Given the description of an element on the screen output the (x, y) to click on. 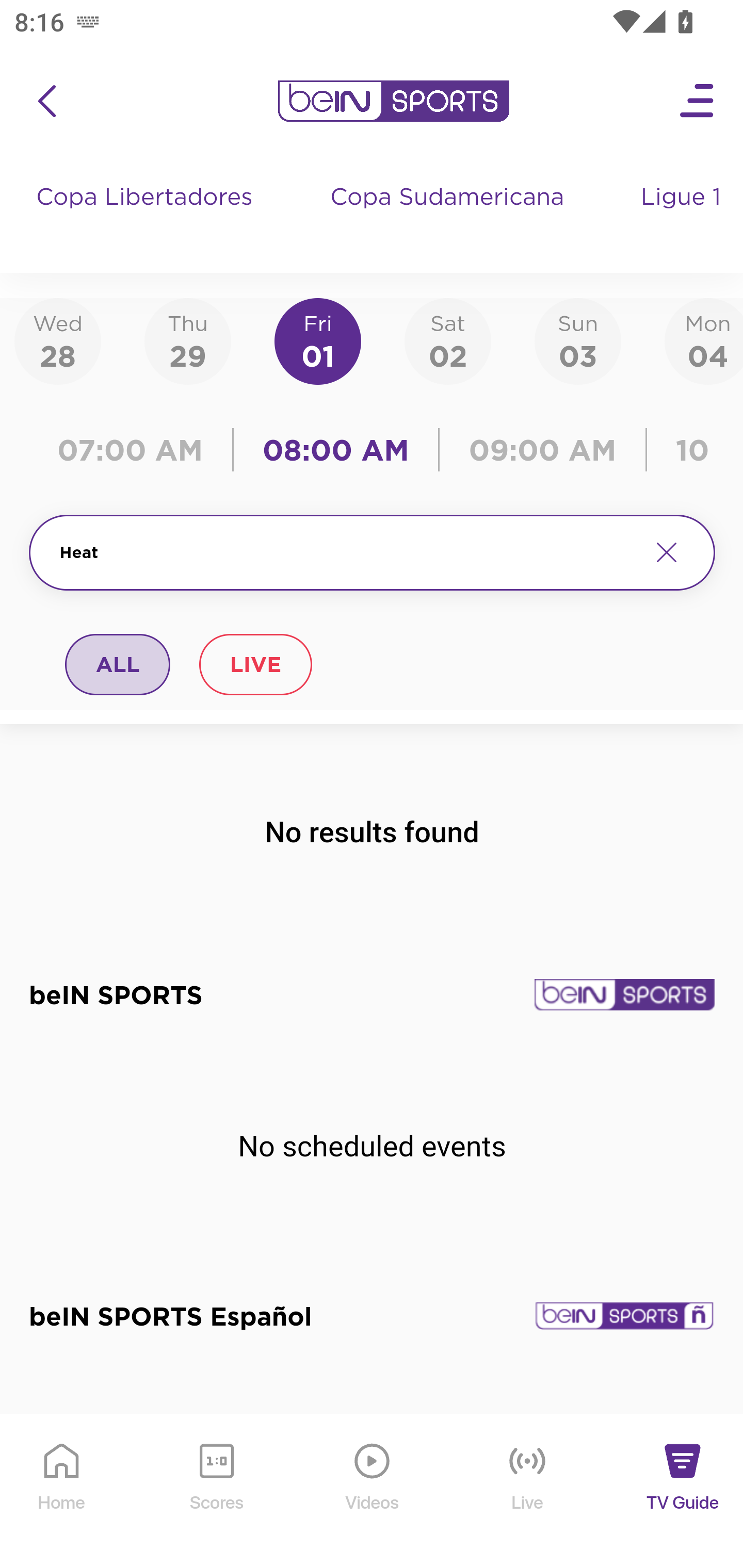
en-us?platform=mobile_android bein logo (392, 101)
icon back (46, 101)
Open Menu Icon (697, 101)
Copa Libertadores (146, 216)
Copa Sudamericana (448, 216)
Ligue 1 (682, 216)
Wed28 (58, 340)
Thu29 (187, 340)
Fri01 (318, 340)
Sat02 (447, 340)
Sun03 (578, 340)
Mon04 (703, 340)
07:00 AM (135, 449)
08:00 AM (336, 449)
09:00 AM (542, 449)
Heat (346, 552)
ALL (118, 663)
LIVE (255, 663)
Home Home Icon Home (61, 1491)
Scores Scores Icon Scores (216, 1491)
Videos Videos Icon Videos (372, 1491)
TV Guide TV Guide Icon TV Guide (682, 1491)
